Given the description of an element on the screen output the (x, y) to click on. 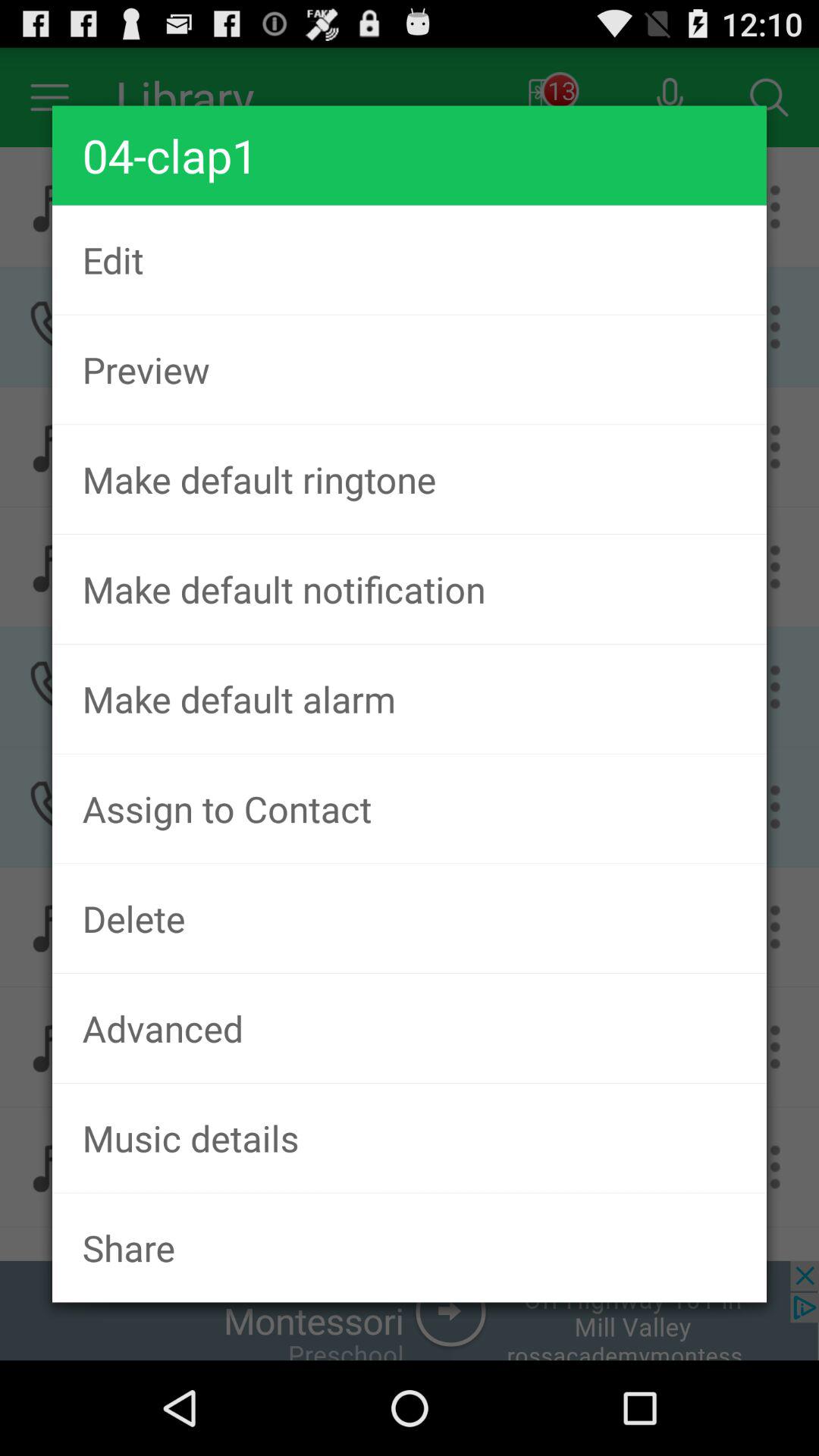
turn on the icon below music details icon (409, 1247)
